Given the description of an element on the screen output the (x, y) to click on. 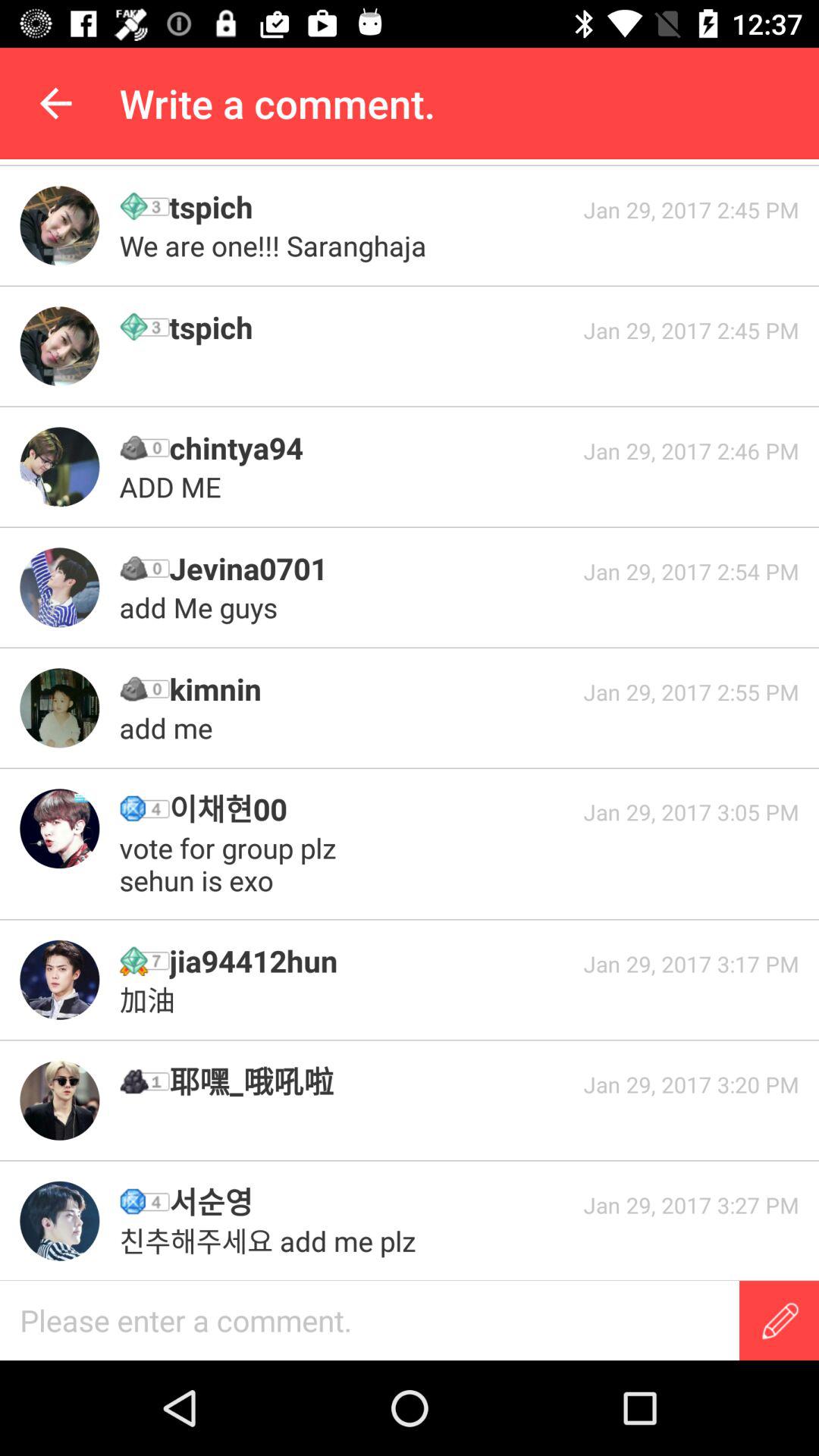
enter a comment (369, 1320)
